Given the description of an element on the screen output the (x, y) to click on. 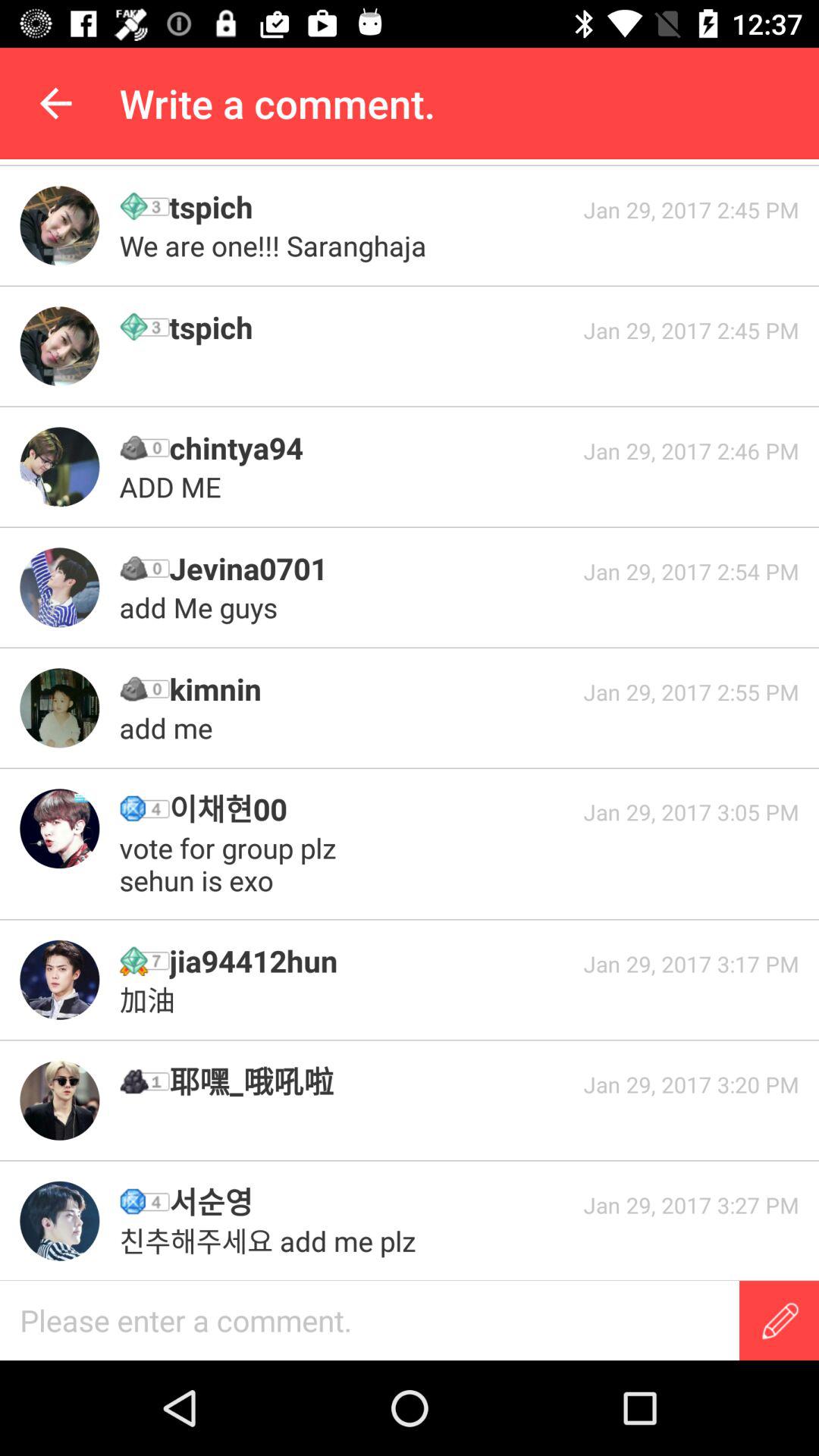
enter a comment (369, 1320)
